Given the description of an element on the screen output the (x, y) to click on. 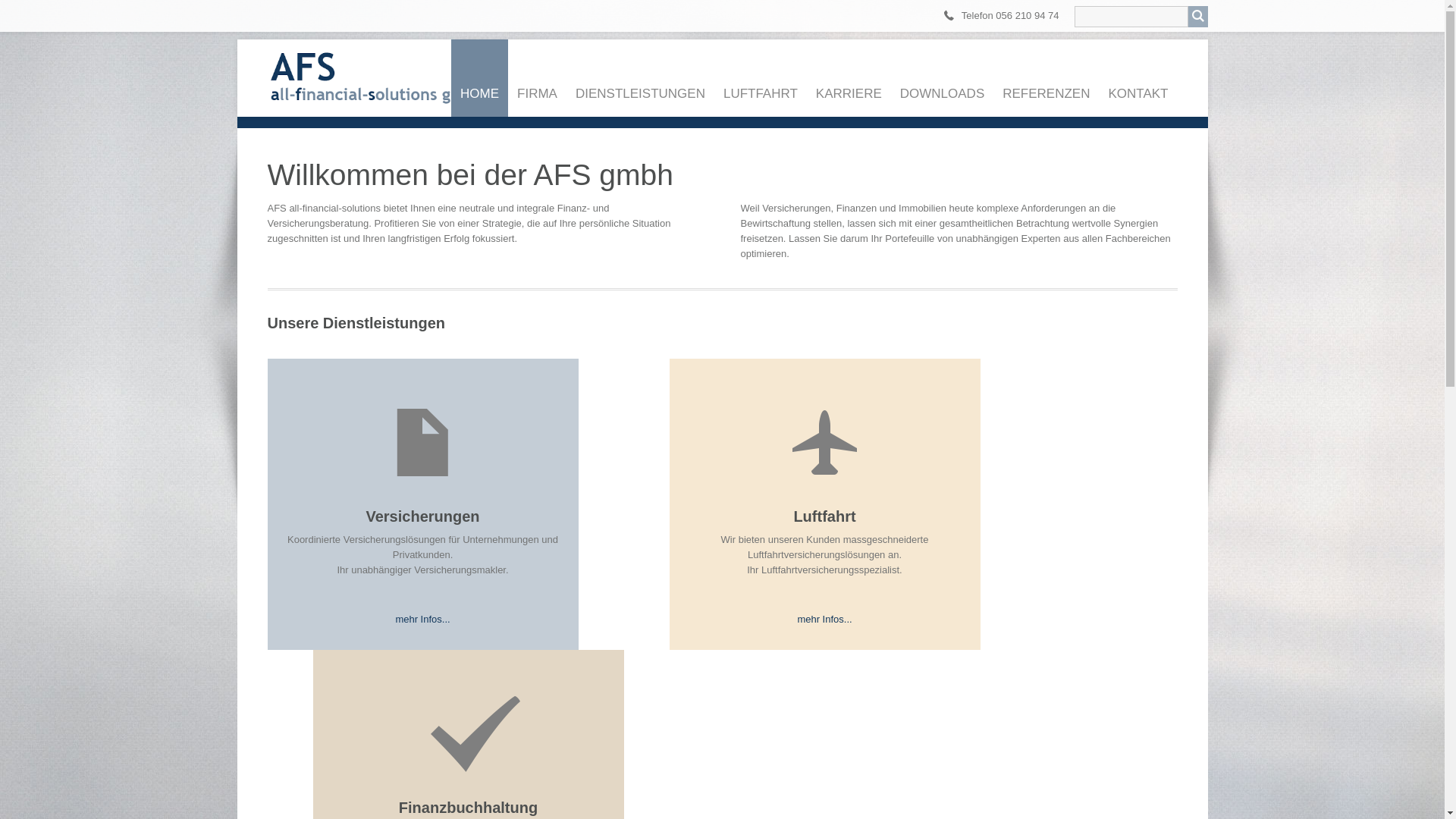
FIRMA Element type: text (537, 77)
REFERENZEN Element type: text (1045, 77)
Suchen Element type: text (1197, 16)
mehr Infos... Element type: text (422, 619)
mehr Infos... Element type: text (824, 619)
DIENSTLEISTUNGEN Element type: text (640, 77)
HOME Element type: text (479, 77)
KARRIERE Element type: text (848, 77)
DOWNLOADS Element type: text (942, 77)
KONTAKT Element type: text (1137, 77)
LUFTFAHRT Element type: text (760, 77)
